Given the description of an element on the screen output the (x, y) to click on. 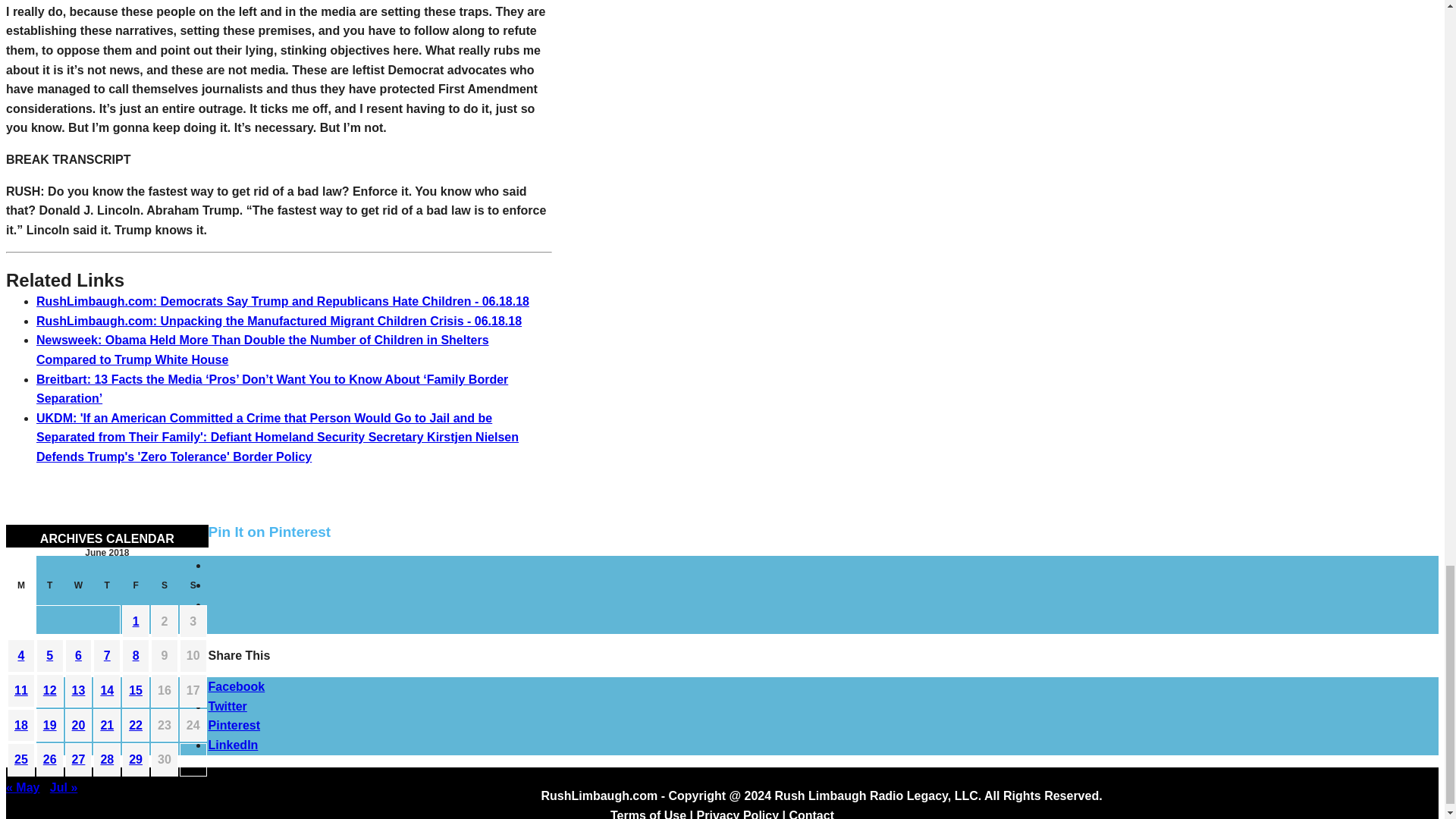
Tuesday (50, 589)
Sunday (192, 589)
Monday (20, 589)
Friday (135, 589)
Thursday (106, 589)
Saturday (164, 589)
Wednesday (79, 589)
